Given the description of an element on the screen output the (x, y) to click on. 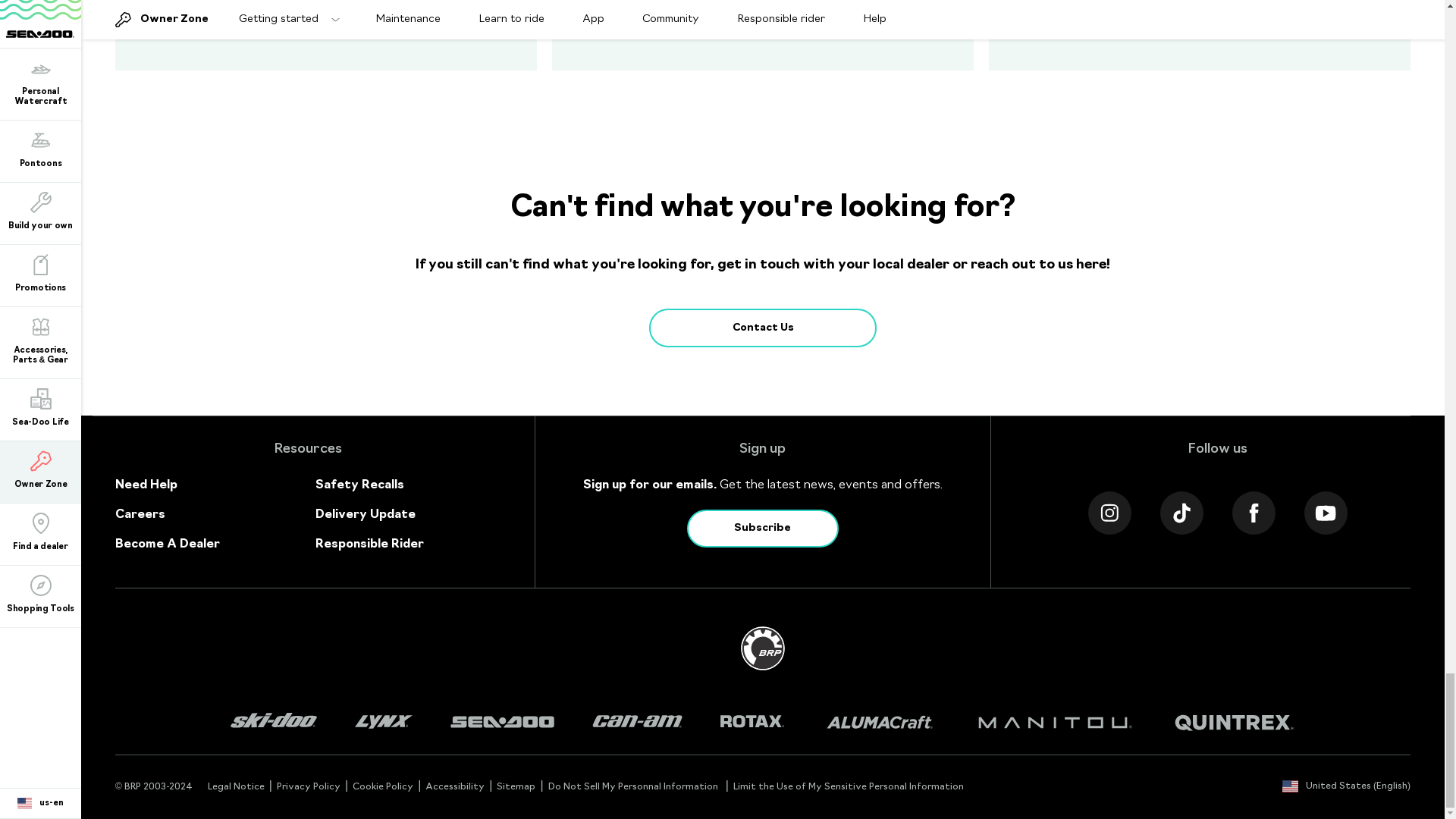
logo-lynx (383, 722)
logo-seadoo (501, 722)
logo-rotax (752, 722)
logo-skidoo (273, 722)
logo-canam (637, 722)
